Given the description of an element on the screen output the (x, y) to click on. 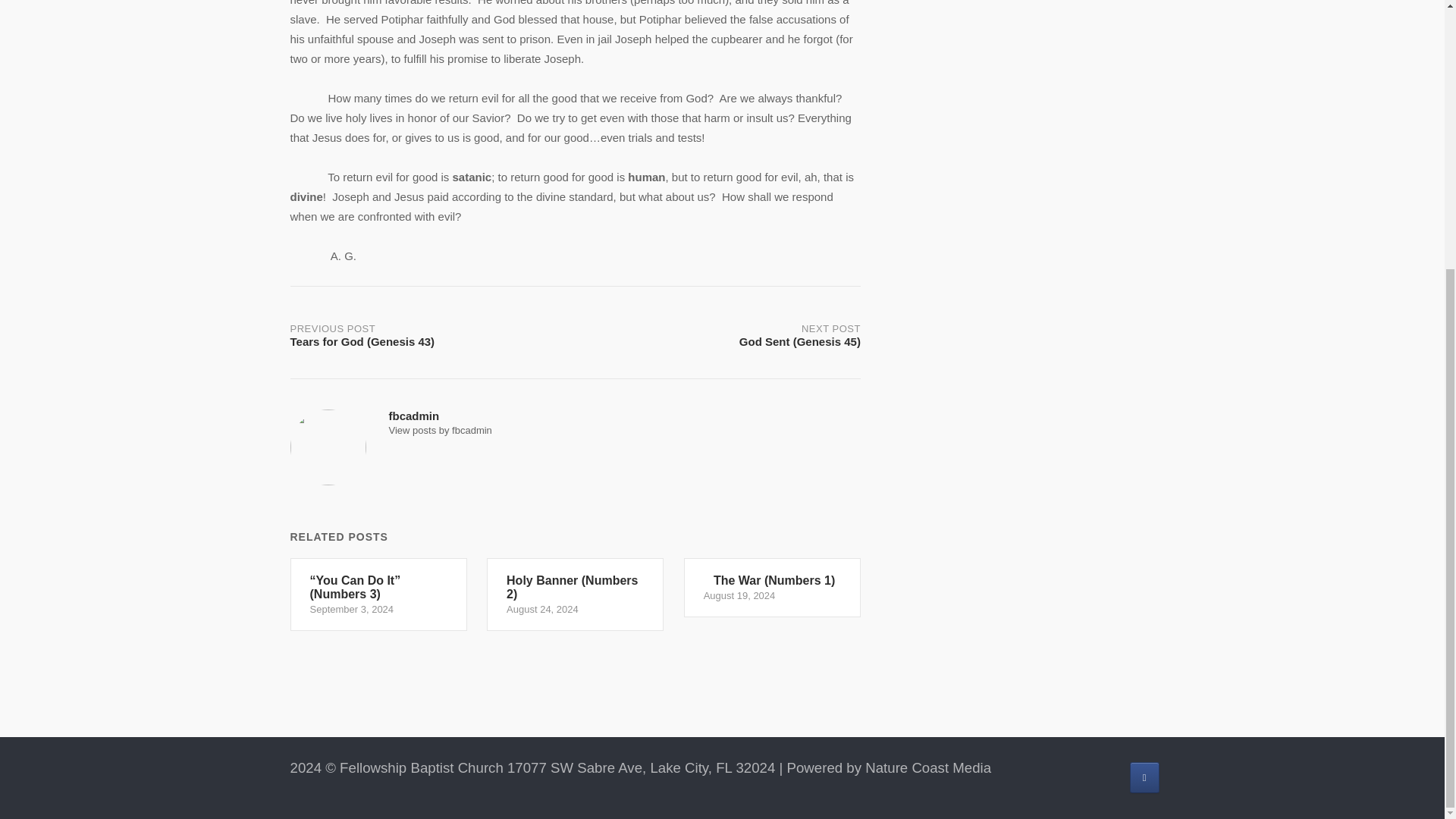
Fellowship Baptist Church on Facebook (1143, 777)
View posts by fbcadmin (440, 430)
Powered by Nature Coast Media (889, 767)
17077 SW Sabre Ave, Lake City, FL 32024 (640, 767)
